Given the description of an element on the screen output the (x, y) to click on. 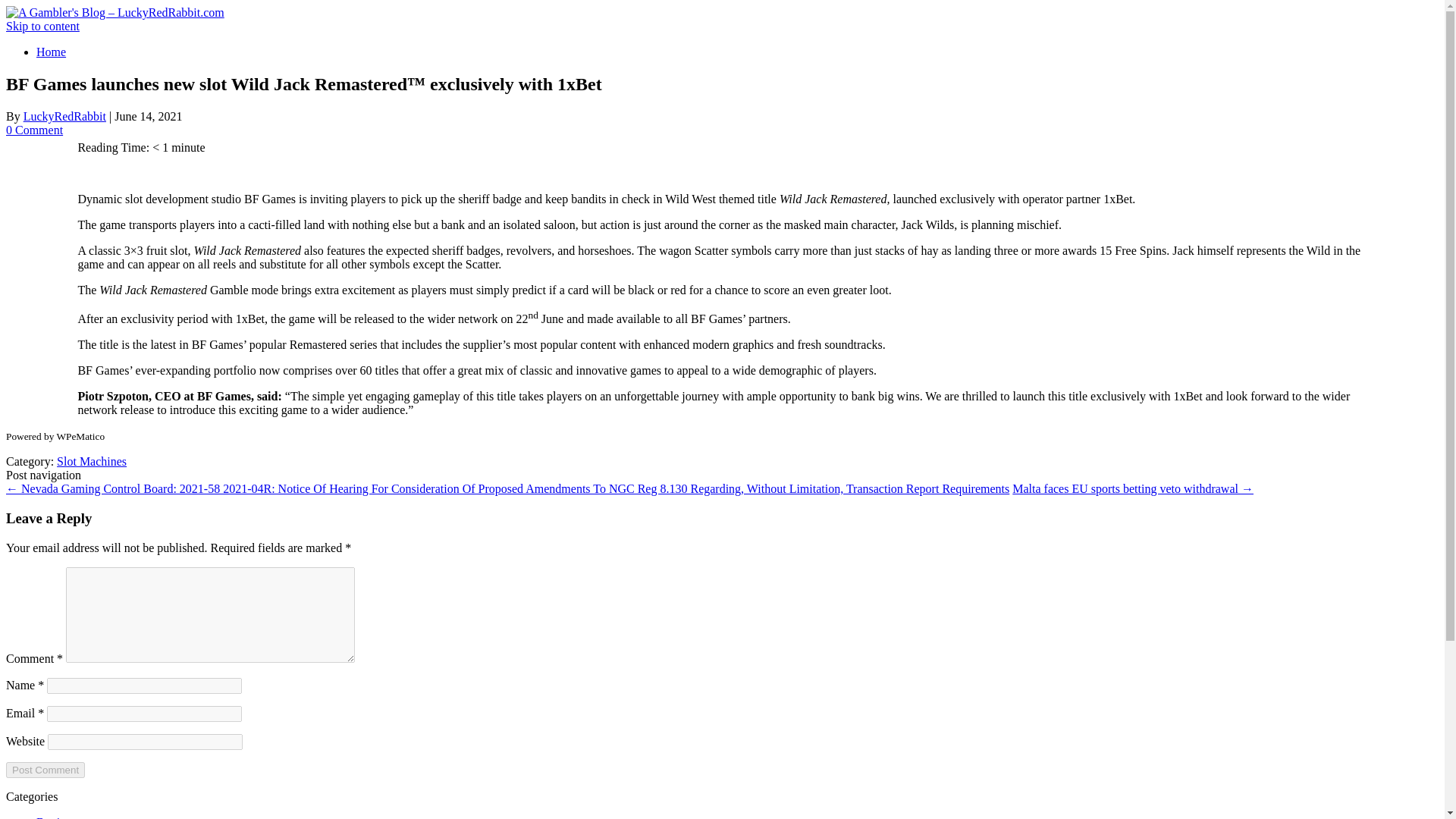
Skip to content (42, 25)
Post Comment (44, 770)
Posts by LuckyRedRabbit (64, 115)
Betting (53, 817)
LuckyRedRabbit (64, 115)
Slot Machines (91, 461)
Skip to content (42, 25)
Home (50, 51)
0 Comment (33, 129)
Post Comment (44, 770)
